Given the description of an element on the screen output the (x, y) to click on. 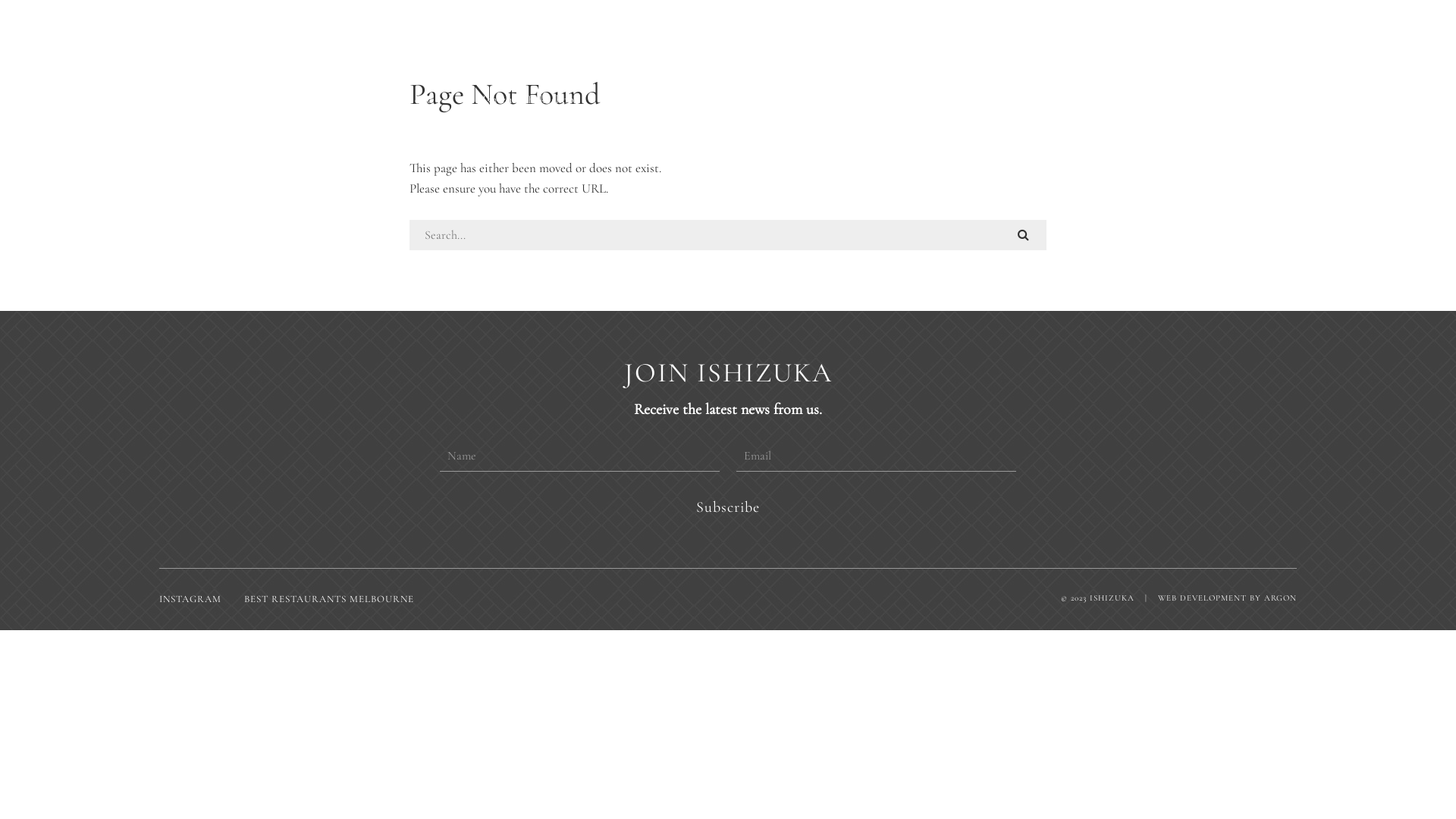
Subscribe Element type: text (727, 507)
Contact Element type: text (1022, 99)
Ishizuka Bakeshop Element type: text (527, 99)
Philosophy Element type: text (814, 99)
INSTAGRAM Element type: text (190, 599)
WEB DEVELOPMENT Element type: text (1201, 597)
My Cart (0) Element type: text (1121, 99)
BEST RESTAURANTS MELBOURNE Element type: text (329, 599)
Reservation Element type: text (921, 99)
Home Element type: text (339, 99)
Menu Element type: text (418, 99)
Press Element type: text (636, 99)
Gallery Element type: text (717, 99)
